Given the description of an element on the screen output the (x, y) to click on. 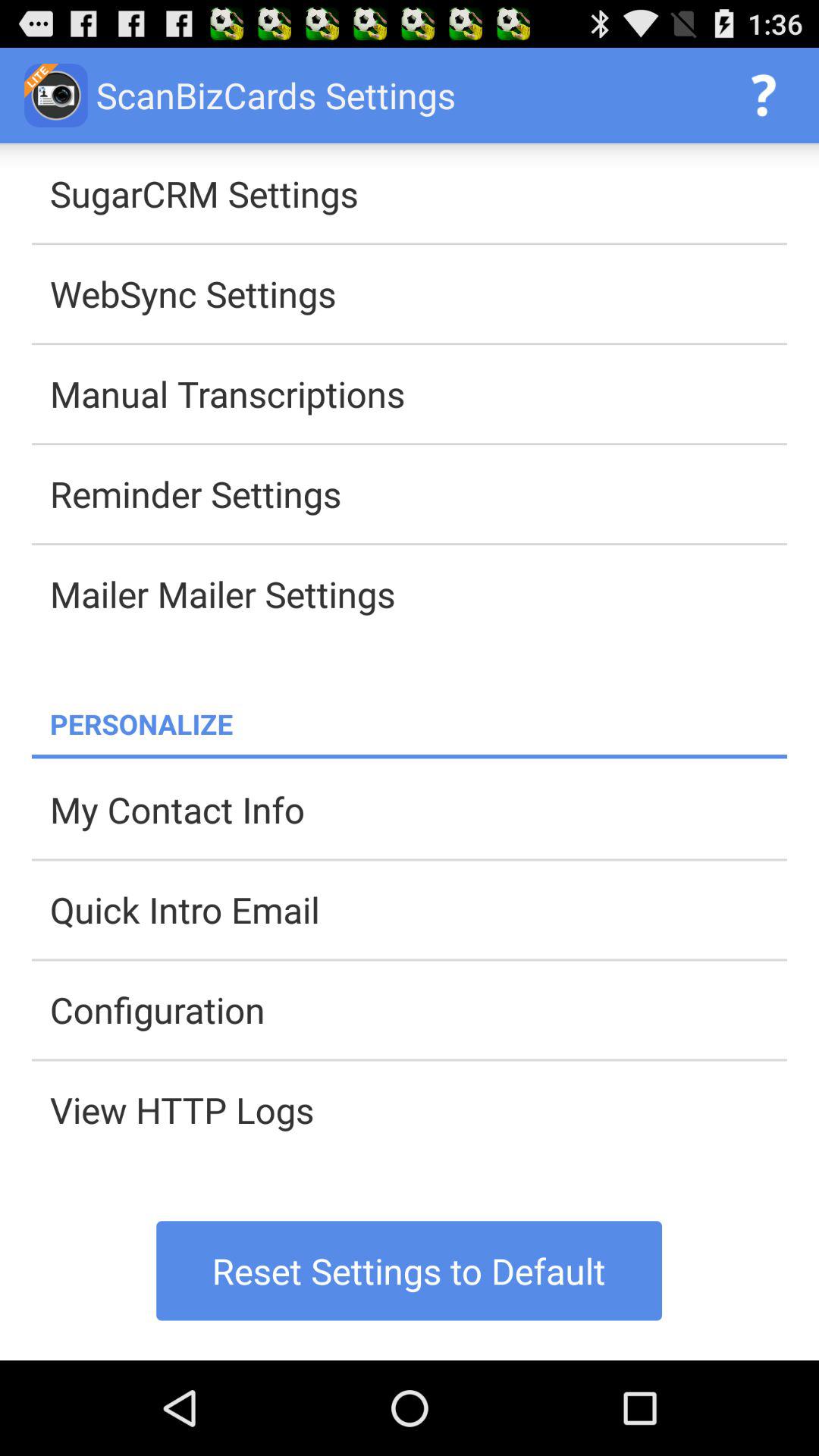
turn on the app below the quick intro email (418, 1009)
